Given the description of an element on the screen output the (x, y) to click on. 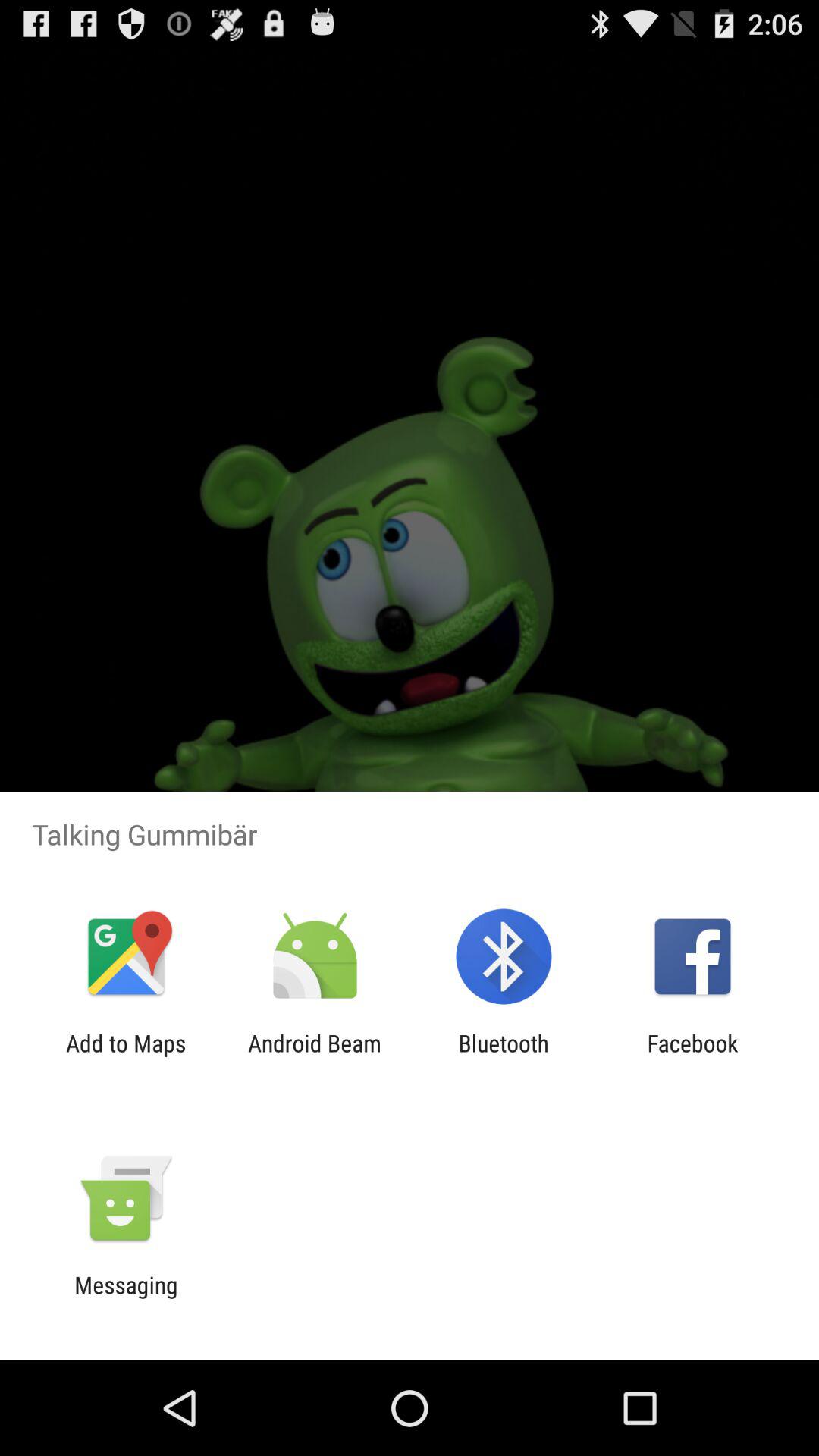
open the android beam app (314, 1056)
